Given the description of an element on the screen output the (x, y) to click on. 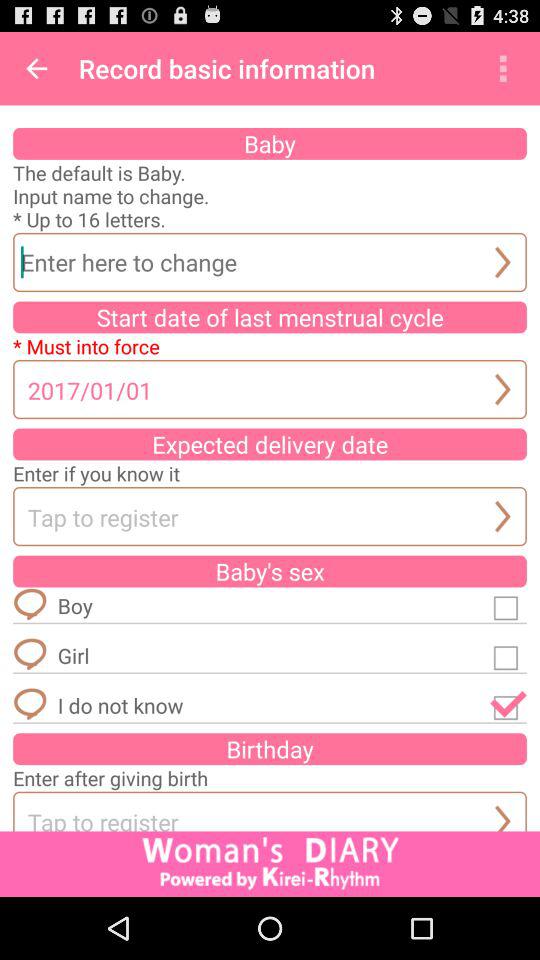
choose app to the right of record basic information (503, 67)
